Given the description of an element on the screen output the (x, y) to click on. 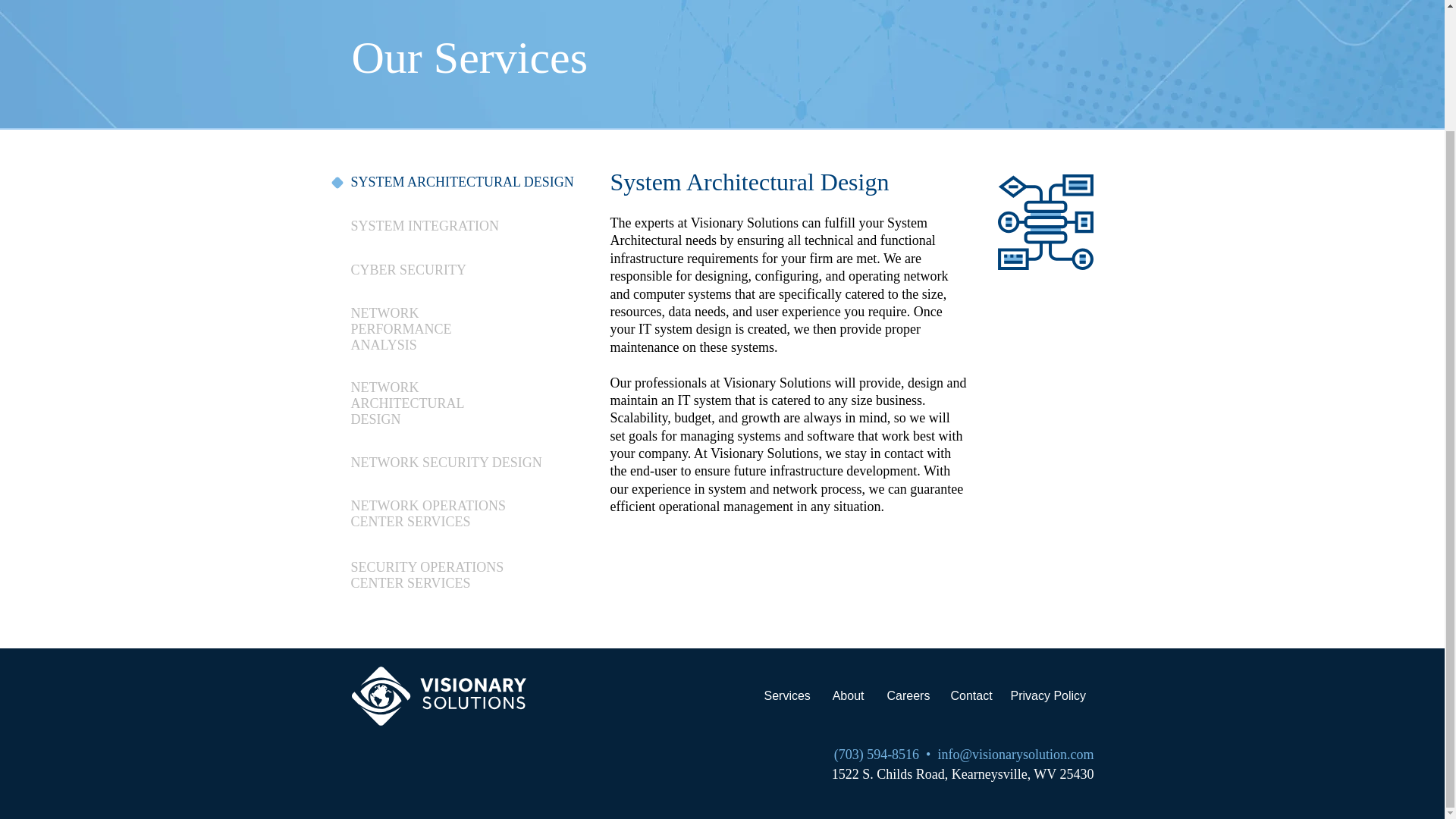
SYSTEM INTEGRATION (424, 225)
NETWORK PERFORMANCE ANALYSIS (400, 328)
Privacy Policy (1048, 695)
About (848, 695)
NETWORK SECURITY DESIGN (445, 462)
SECURITY OPERATIONS CENTER SERVICES (426, 574)
SYSTEM ARCHITECTURAL DESIGN (461, 181)
NETWORK OPERATIONS CENTER SERVICES (427, 513)
Careers (907, 695)
NETWORK ARCHITECTURAL DESIGN (406, 403)
Contact (971, 695)
Services (785, 695)
CYBER SECURITY (407, 269)
